Given the description of an element on the screen output the (x, y) to click on. 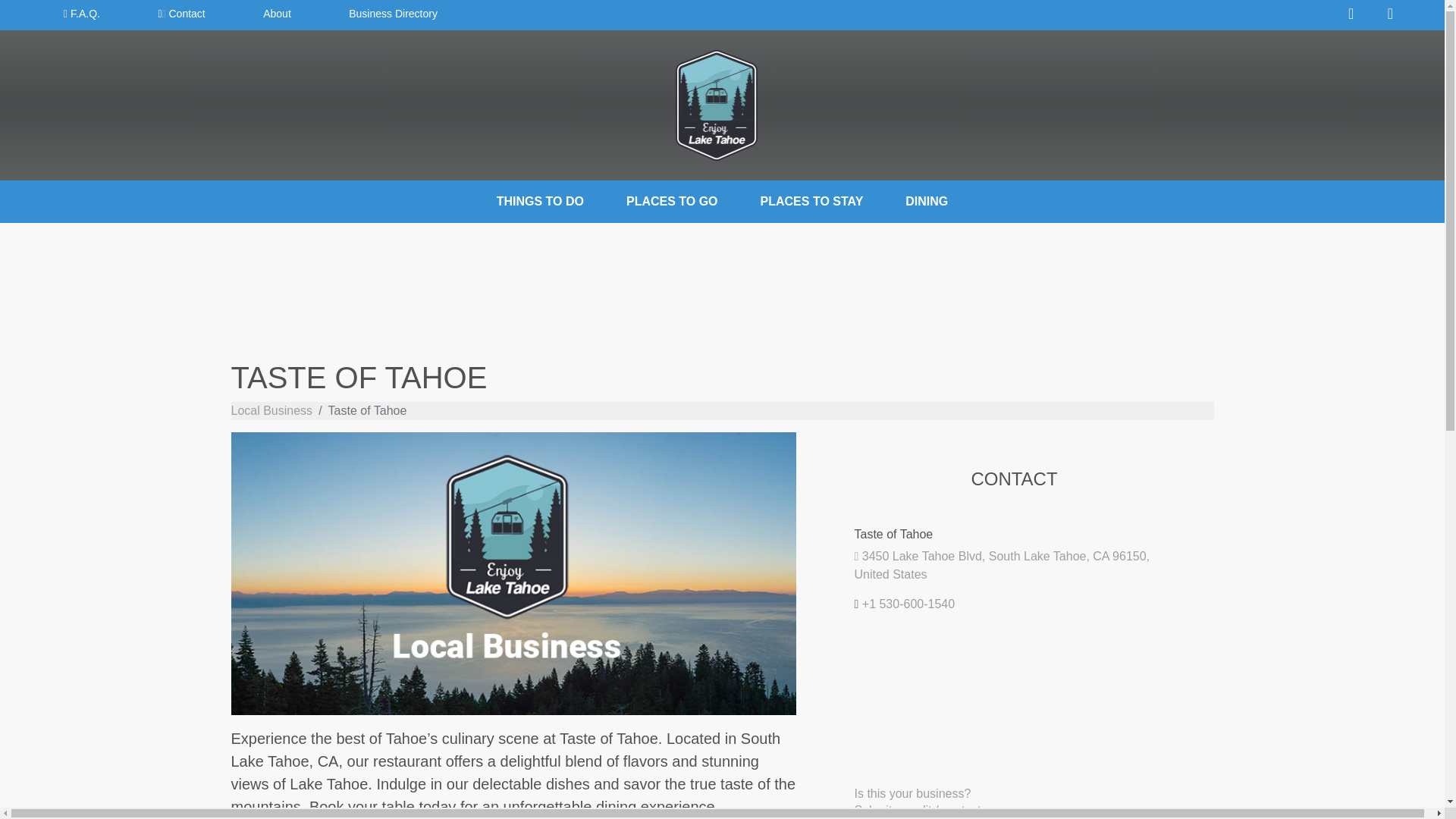
F.A.Q. (81, 13)
Contact (180, 13)
Local Business (271, 410)
PLACES TO STAY (811, 201)
PLACES TO GO (671, 201)
DINING (926, 201)
Business Directory (392, 13)
About (276, 13)
THINGS TO DO (539, 201)
